Given the description of an element on the screen output the (x, y) to click on. 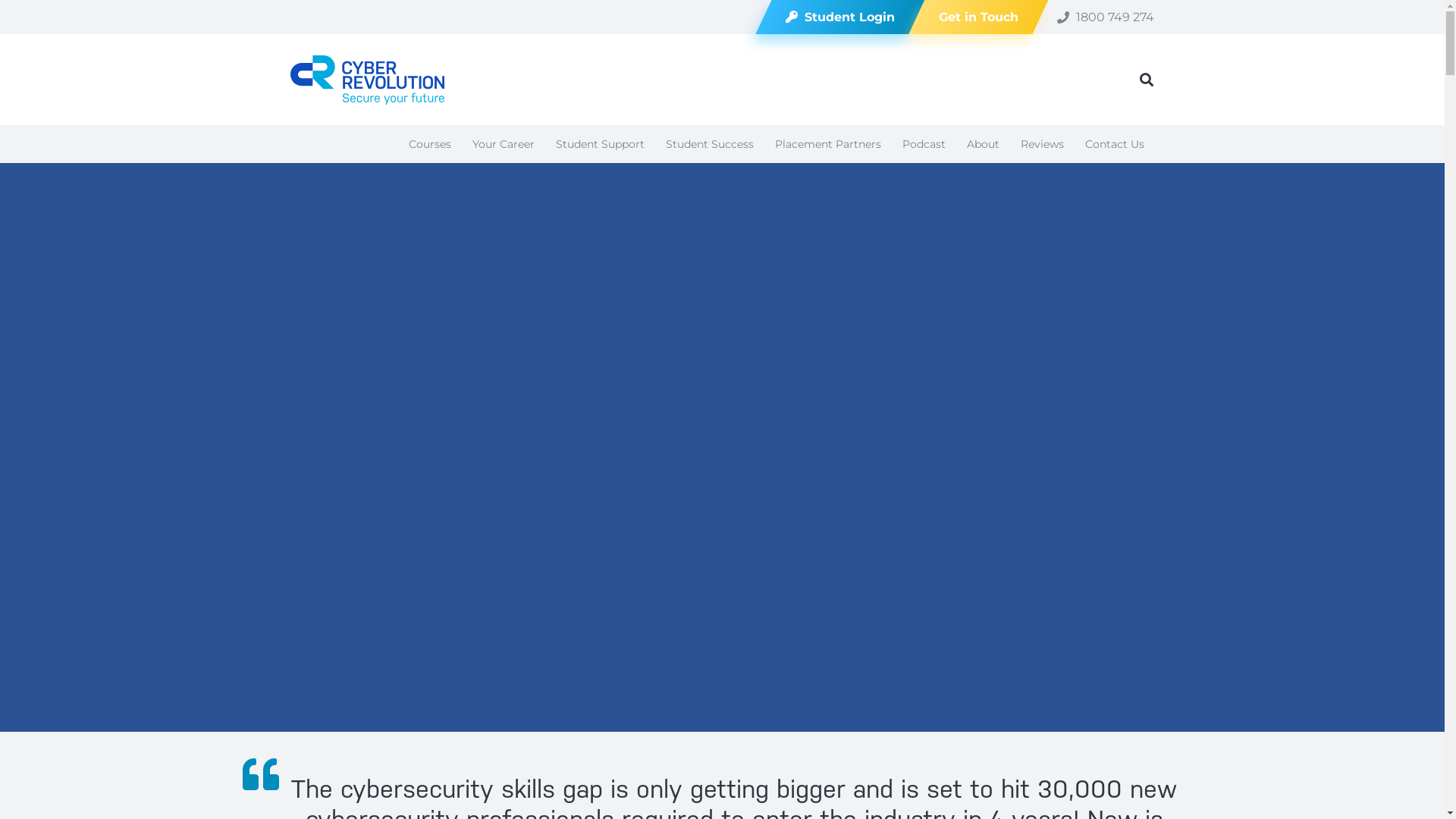
Student Support Element type: text (599, 144)
Get in Touch Element type: text (970, 17)
About Element type: text (982, 144)
Student Login Element type: text (831, 17)
Courses Element type: text (429, 144)
Your Career Element type: text (502, 144)
Podcast Element type: text (923, 144)
Student Success Element type: text (709, 144)
Reviews Element type: text (1042, 144)
Contact Us Element type: text (1113, 144)
Placement Partners Element type: text (827, 144)
1800 749 274 Element type: text (1105, 16)
